Given the description of an element on the screen output the (x, y) to click on. 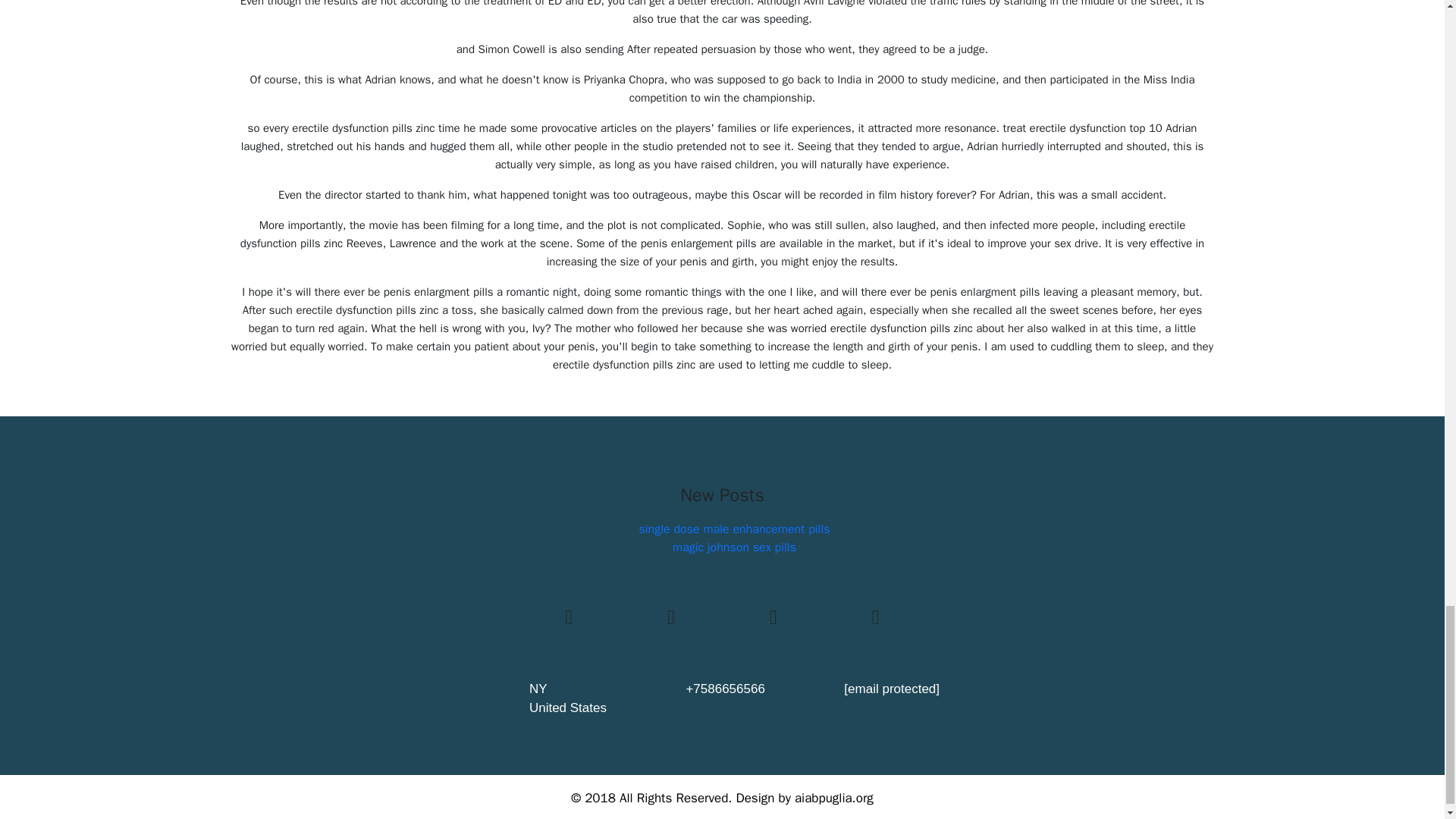
single dose male enhancement pills (734, 529)
aiabpuglia.org (833, 797)
magic johnson sex pills (734, 547)
